Given the description of an element on the screen output the (x, y) to click on. 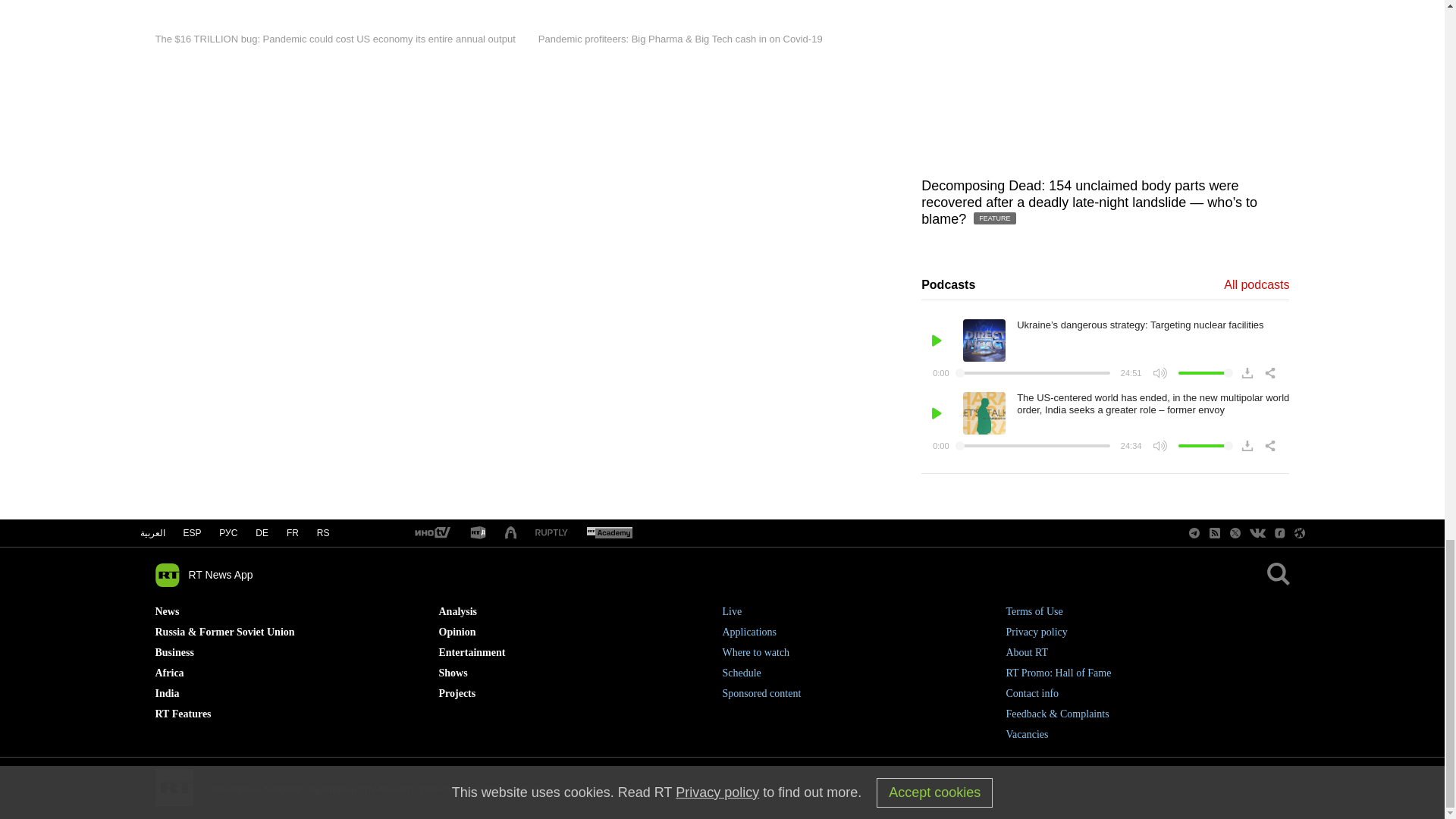
RT  (608, 533)
RT  (431, 533)
RT  (551, 533)
RT  (478, 533)
